Given the description of an element on the screen output the (x, y) to click on. 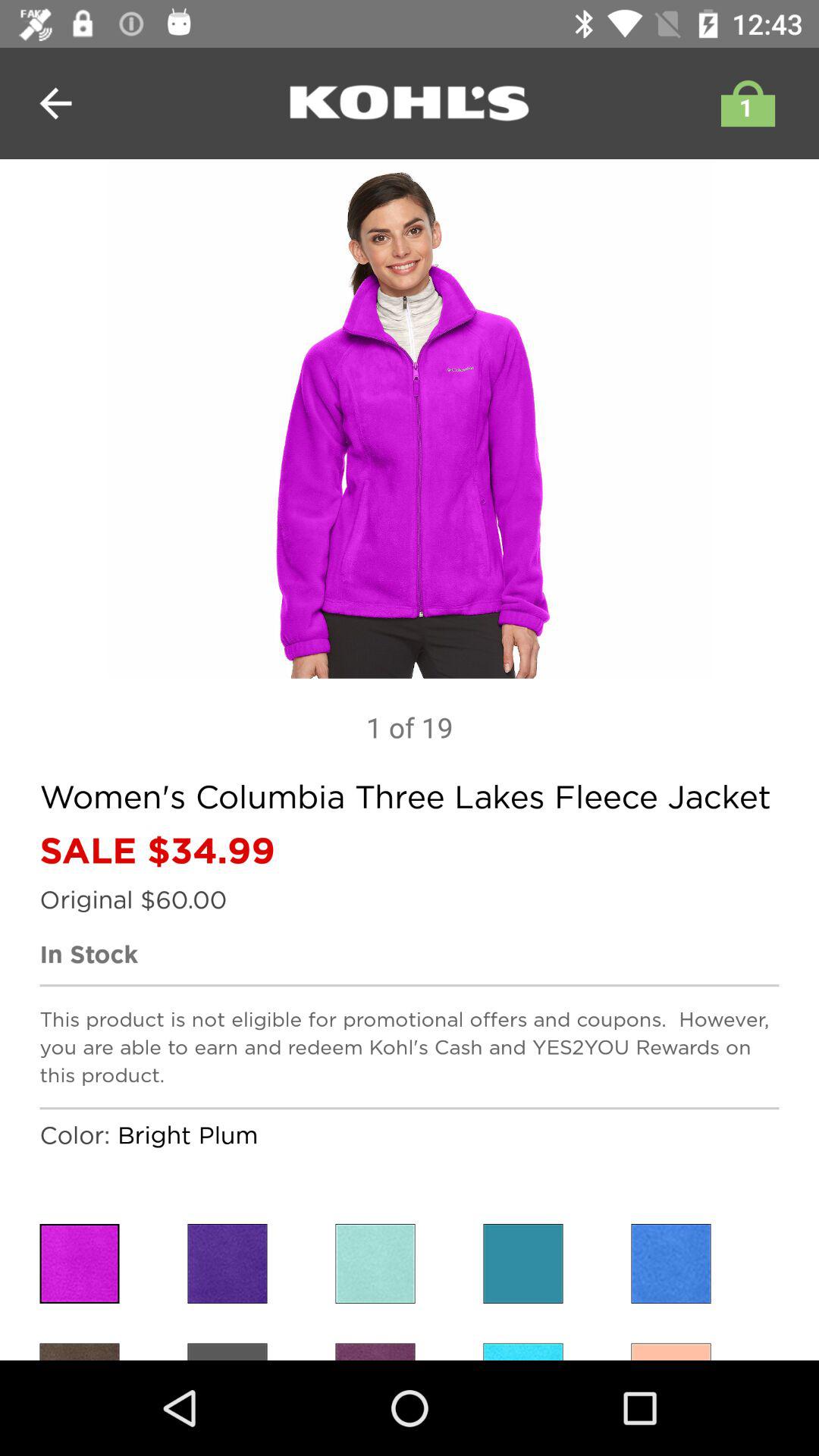
go to shopping bag (744, 103)
